Given the description of an element on the screen output the (x, y) to click on. 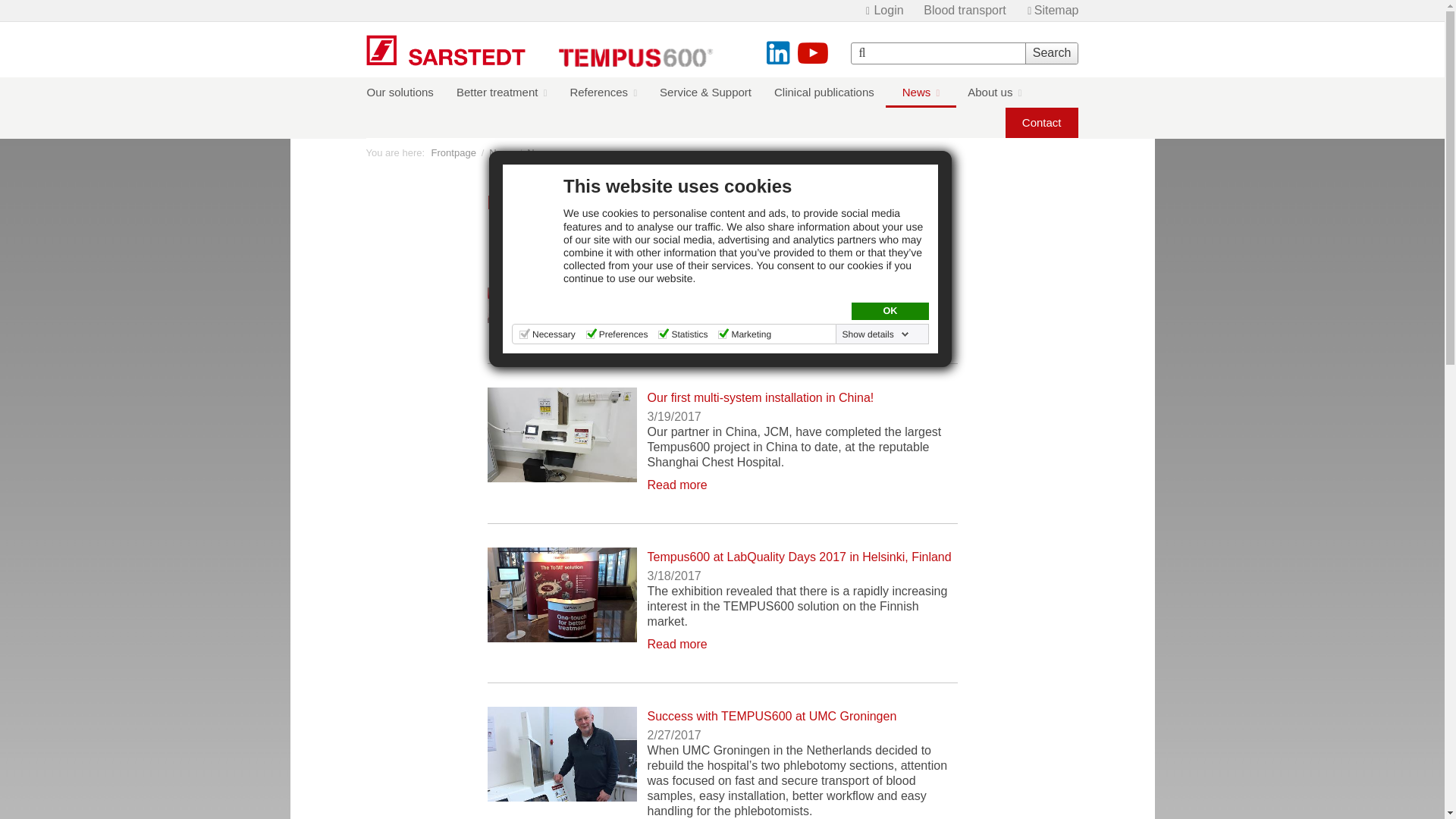
OK (889, 311)
Show details (876, 334)
